Given the description of an element on the screen output the (x, y) to click on. 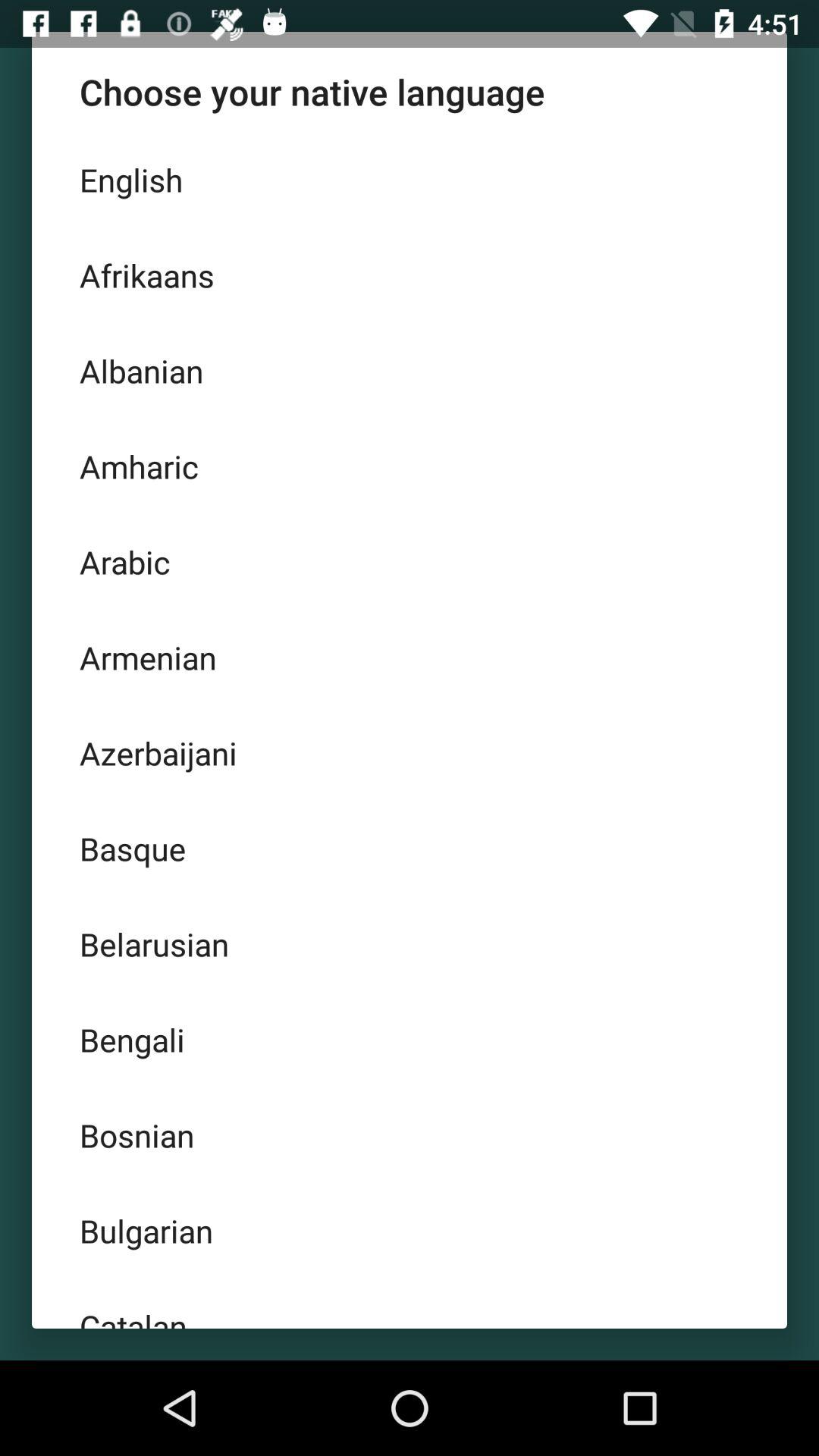
turn on the item below the armenian icon (409, 752)
